Given the description of an element on the screen output the (x, y) to click on. 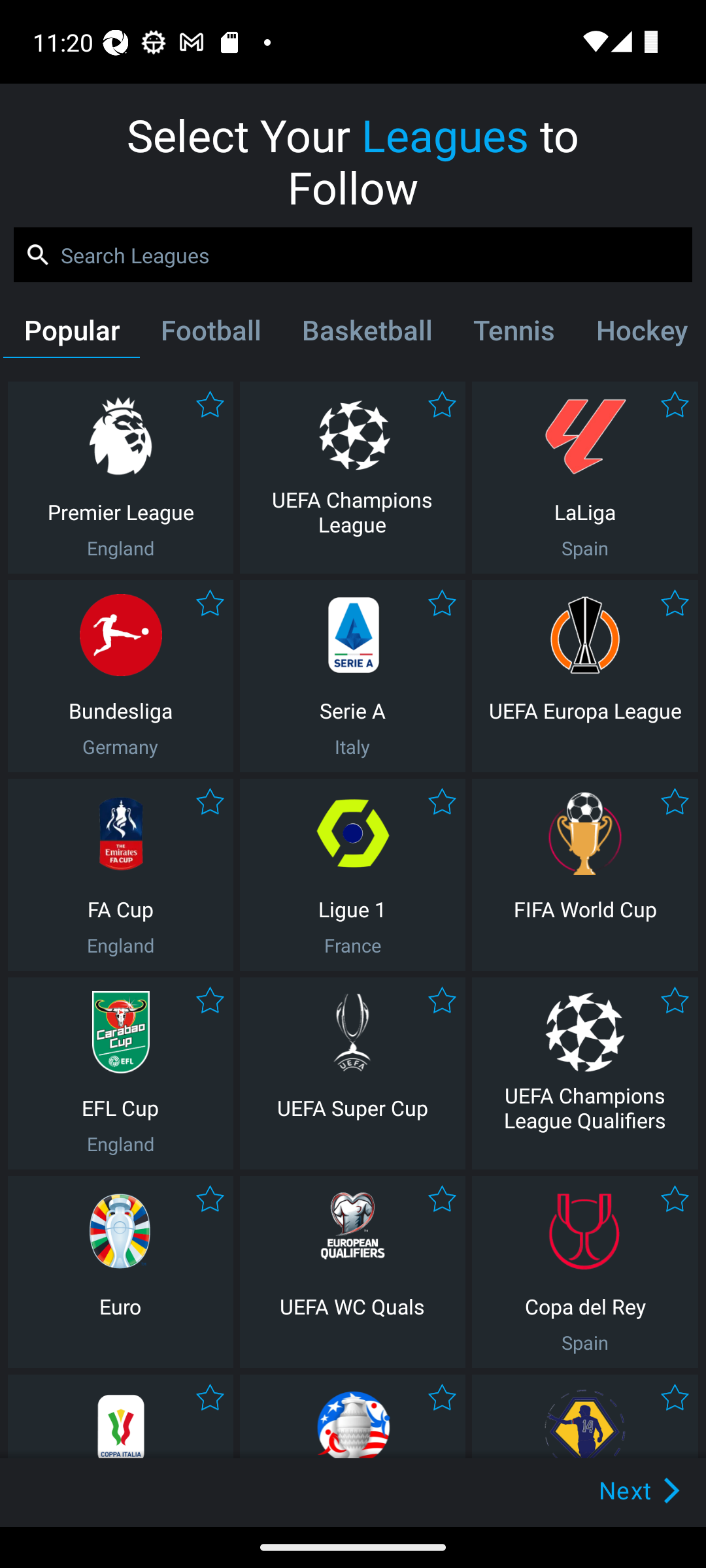
Search Leagues (352, 254)
Popular (71, 333)
Football (209, 333)
Basketball (366, 333)
Tennis (513, 333)
Hockey (638, 333)
Premier League England (120, 477)
UEFA Champions League (352, 477)
LaLiga Spain (585, 477)
Bundesliga Germany (120, 675)
Serie A Italy (352, 675)
UEFA Europa League (585, 675)
FA Cup England (120, 874)
Ligue 1 France (352, 874)
FIFA World Cup (585, 874)
EFL Cup England (120, 1072)
UEFA Super Cup (352, 1072)
UEFA Champions League Qualifiers (585, 1072)
Euro (120, 1271)
UEFA WC Quals (352, 1271)
Copa del Rey Spain (585, 1271)
Next (609, 1489)
